Given the description of an element on the screen output the (x, y) to click on. 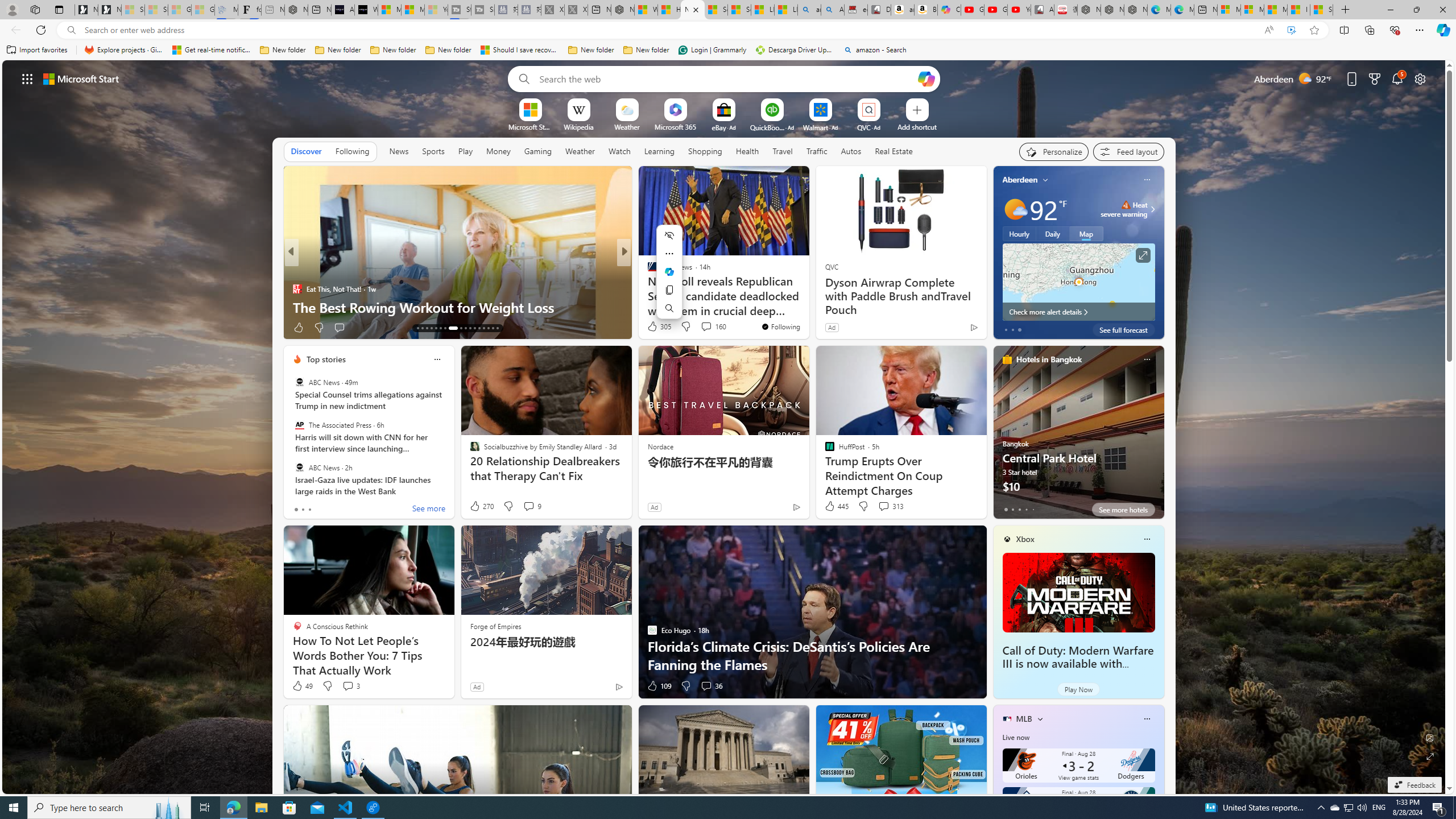
Edit Background (1430, 737)
Gloom - YouTube (995, 9)
News (398, 151)
Close tab (695, 9)
Feed settings (1128, 151)
View comments 160 Comment (705, 326)
hotels-header-icon (1006, 358)
Search icon (70, 29)
AutomationID: tab-19 (444, 328)
What's the best AI voice generator? - voice.ai (365, 9)
AutomationID: tab-42 (492, 328)
Personal Profile (12, 9)
